Given the description of an element on the screen output the (x, y) to click on. 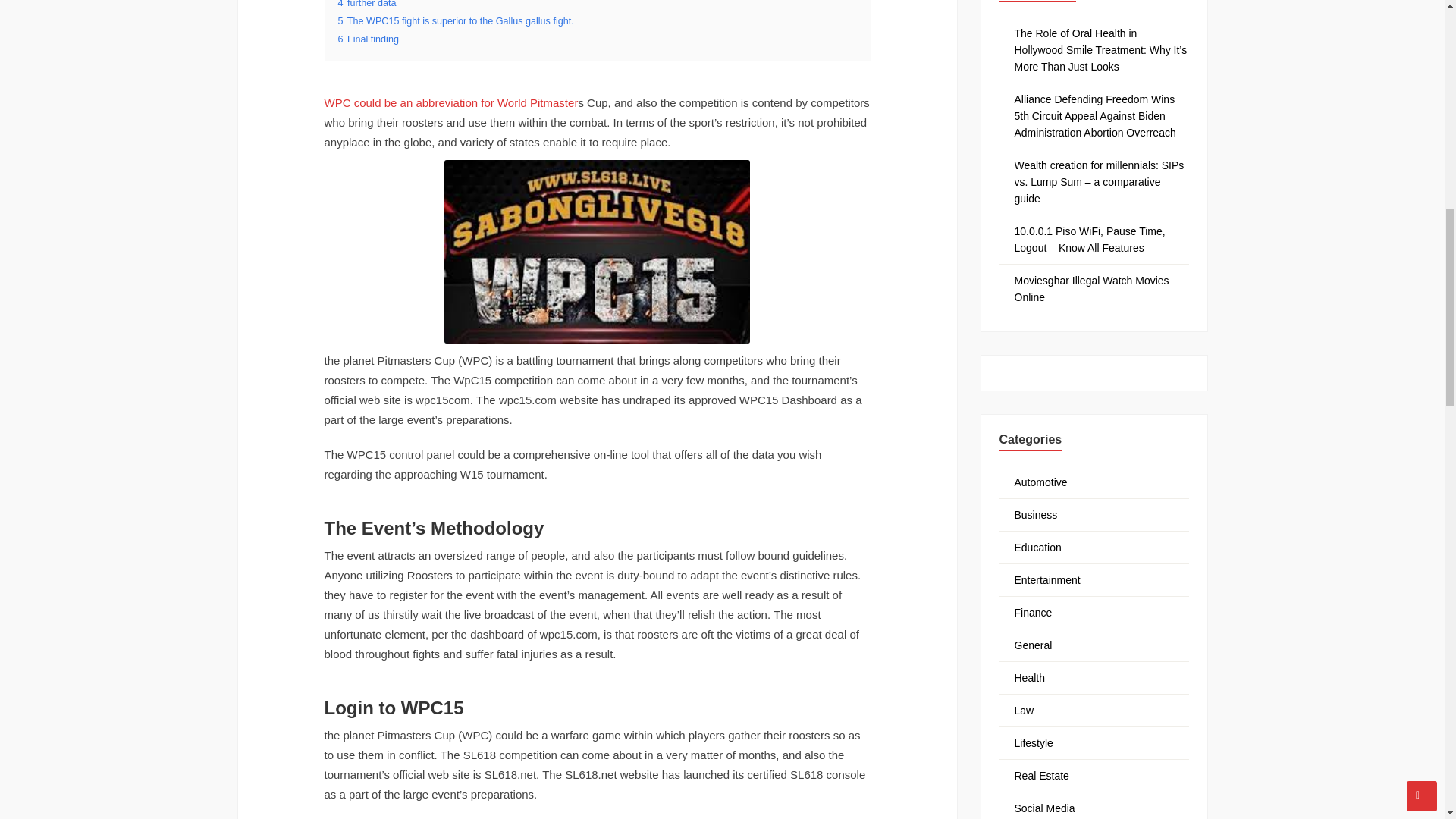
WPC could be an abbreviation for World Pitmaster (451, 102)
WPC15: How Does WPC 15 Work? 2 (596, 251)
6 Final finding (367, 39)
4 further data (366, 4)
5 The WPC15 fight is superior to the Gallus gallus fight. (455, 20)
